Given the description of an element on the screen output the (x, y) to click on. 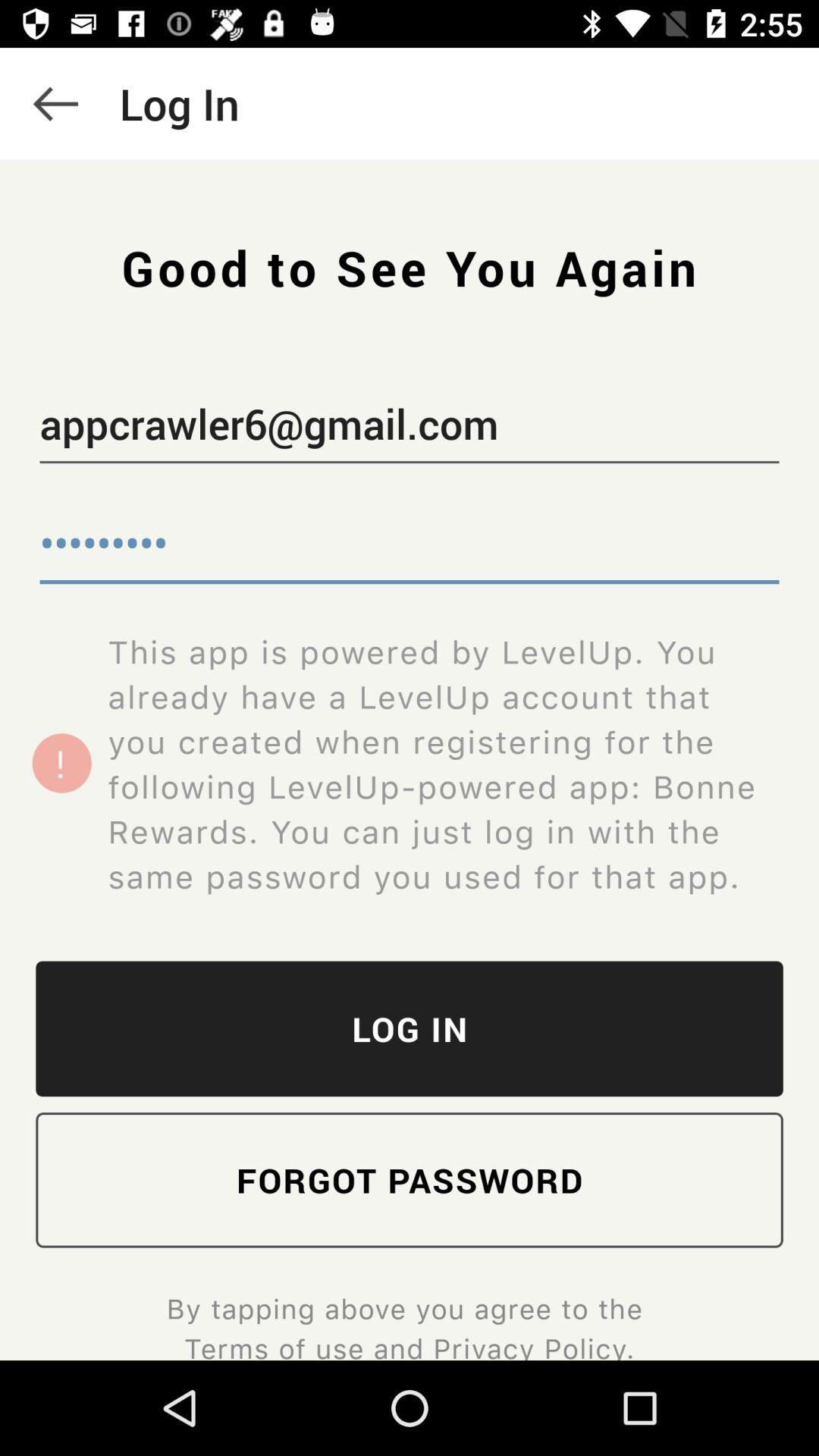
select the app to the left of the log in icon (55, 103)
